Given the description of an element on the screen output the (x, y) to click on. 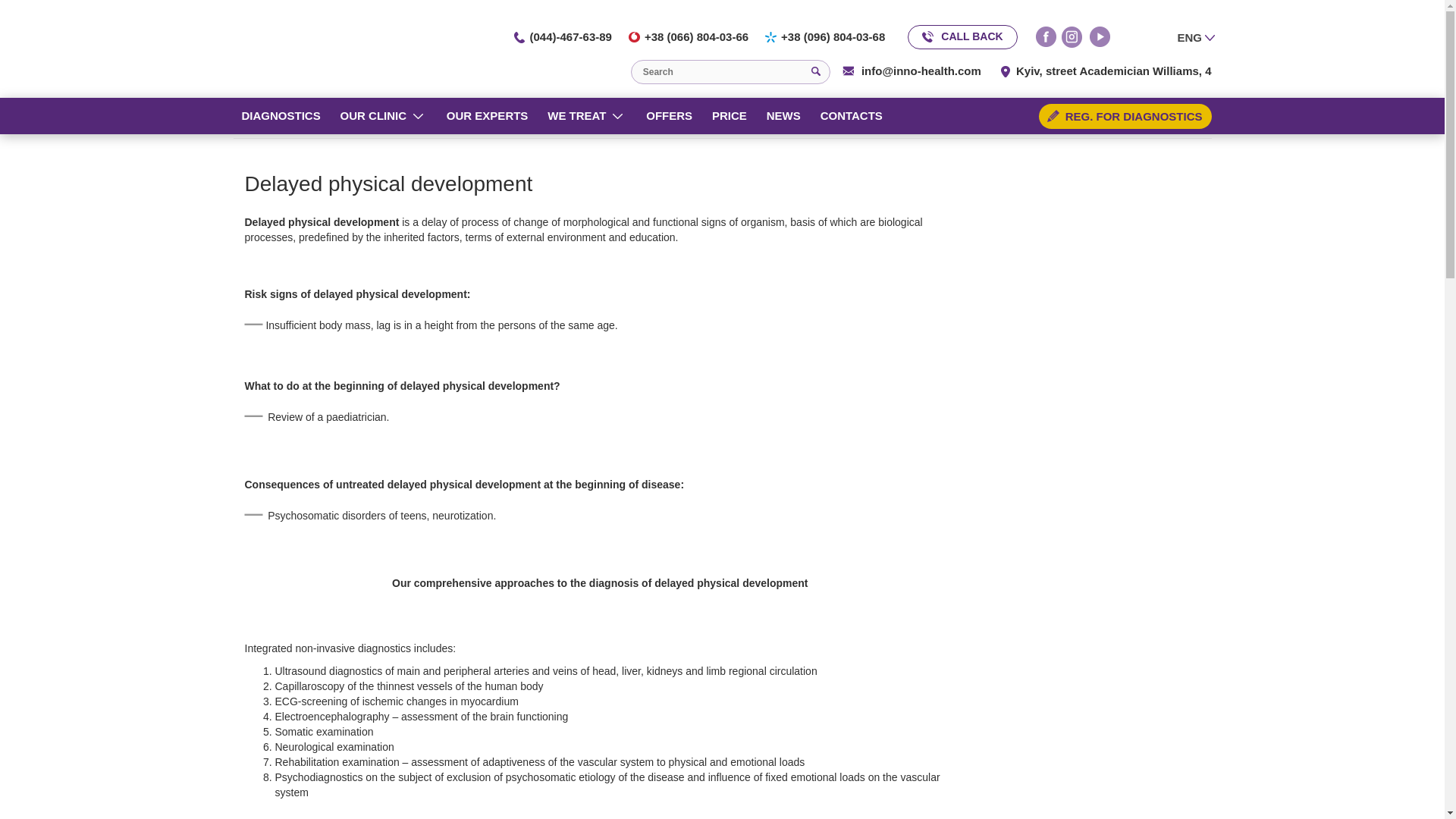
OUR EXPERTS (483, 115)
OUR CLINIC (370, 115)
ENG (1196, 36)
DIAGNOSTICS (276, 115)
CALL BACK (961, 37)
WE TREAT (572, 115)
